Given the description of an element on the screen output the (x, y) to click on. 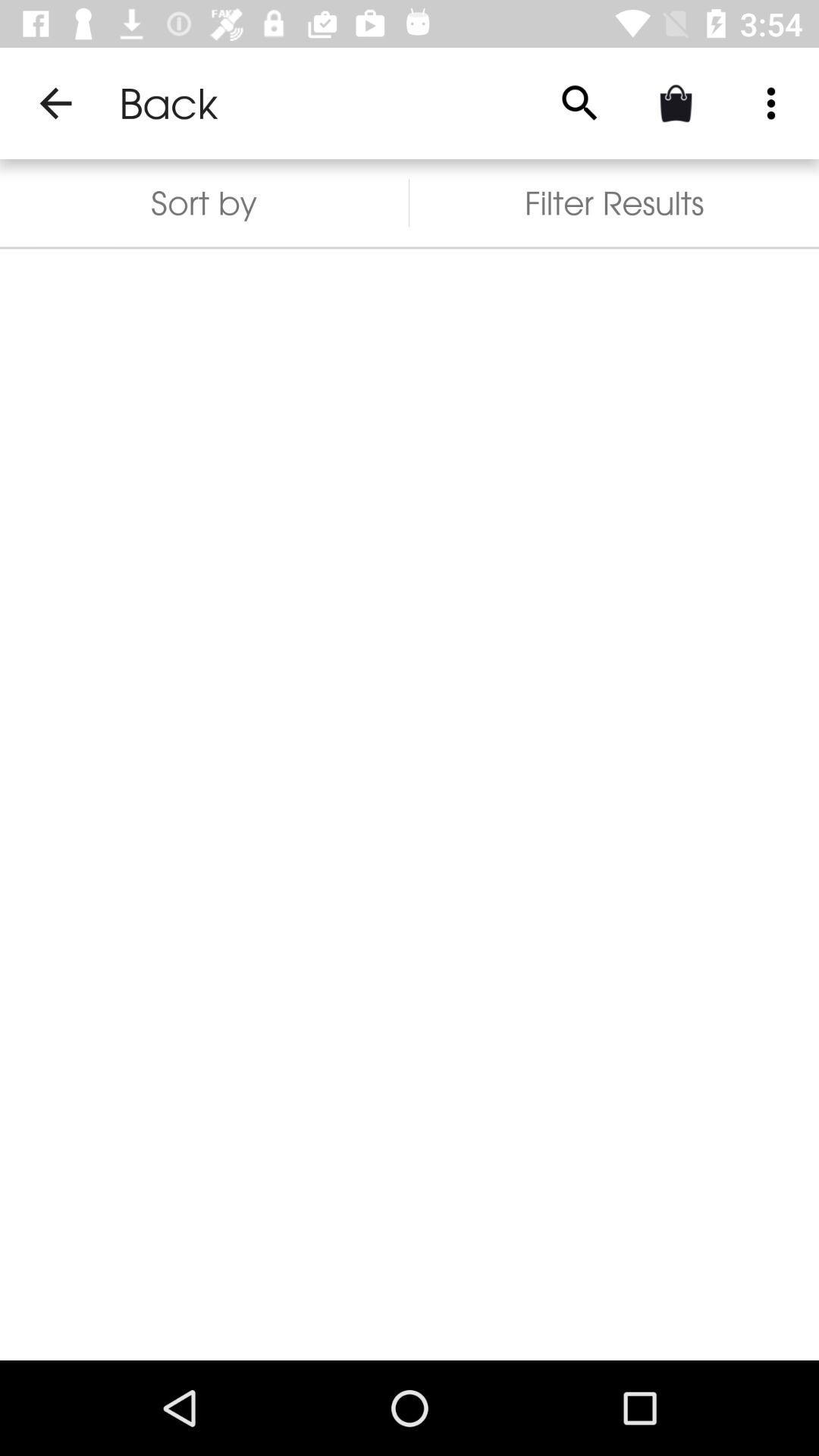
choose icon above filter results item (771, 103)
